Given the description of an element on the screen output the (x, y) to click on. 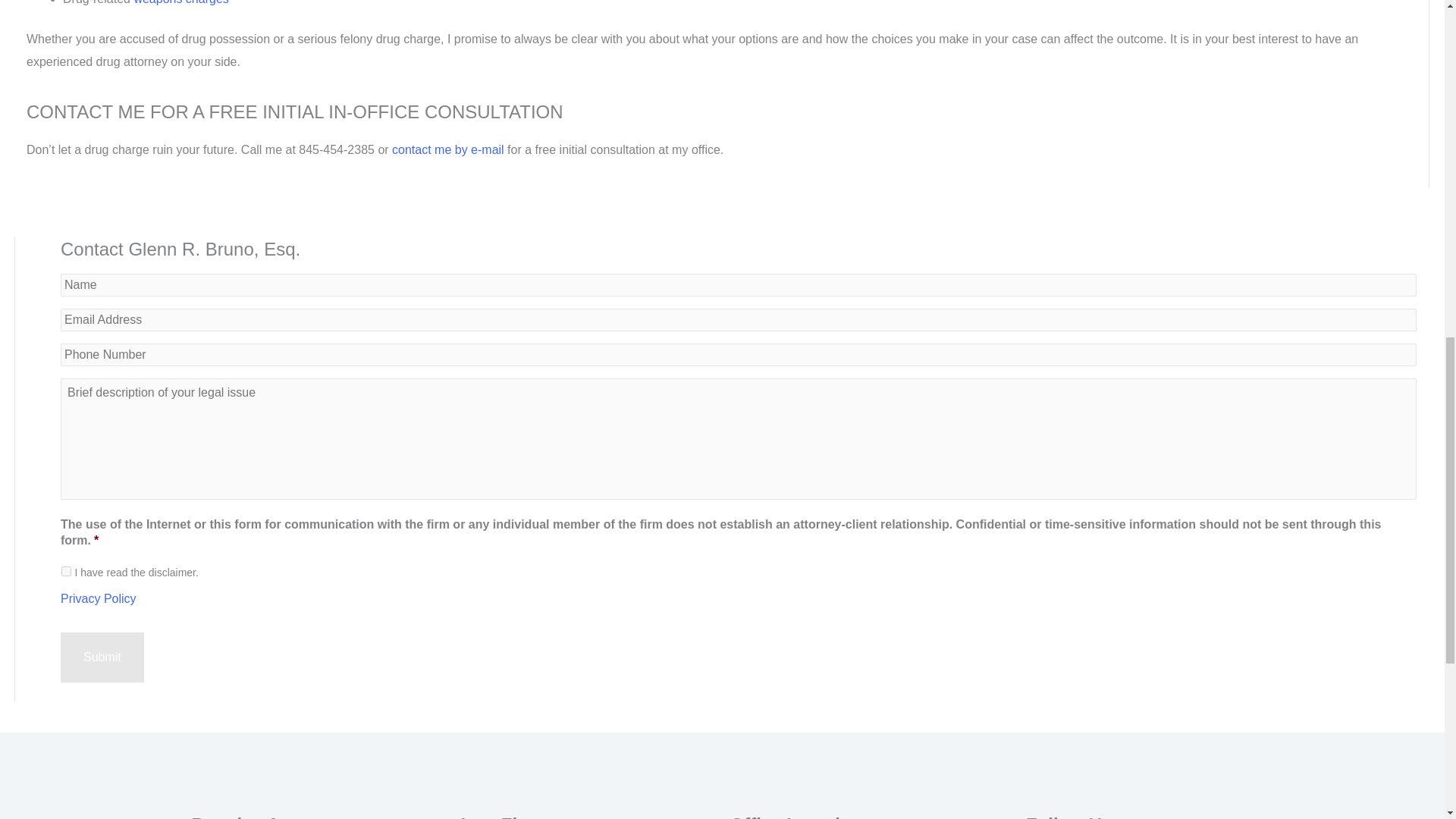
Submit (102, 657)
I have read the disclaimer. (66, 571)
